Given the description of an element on the screen output the (x, y) to click on. 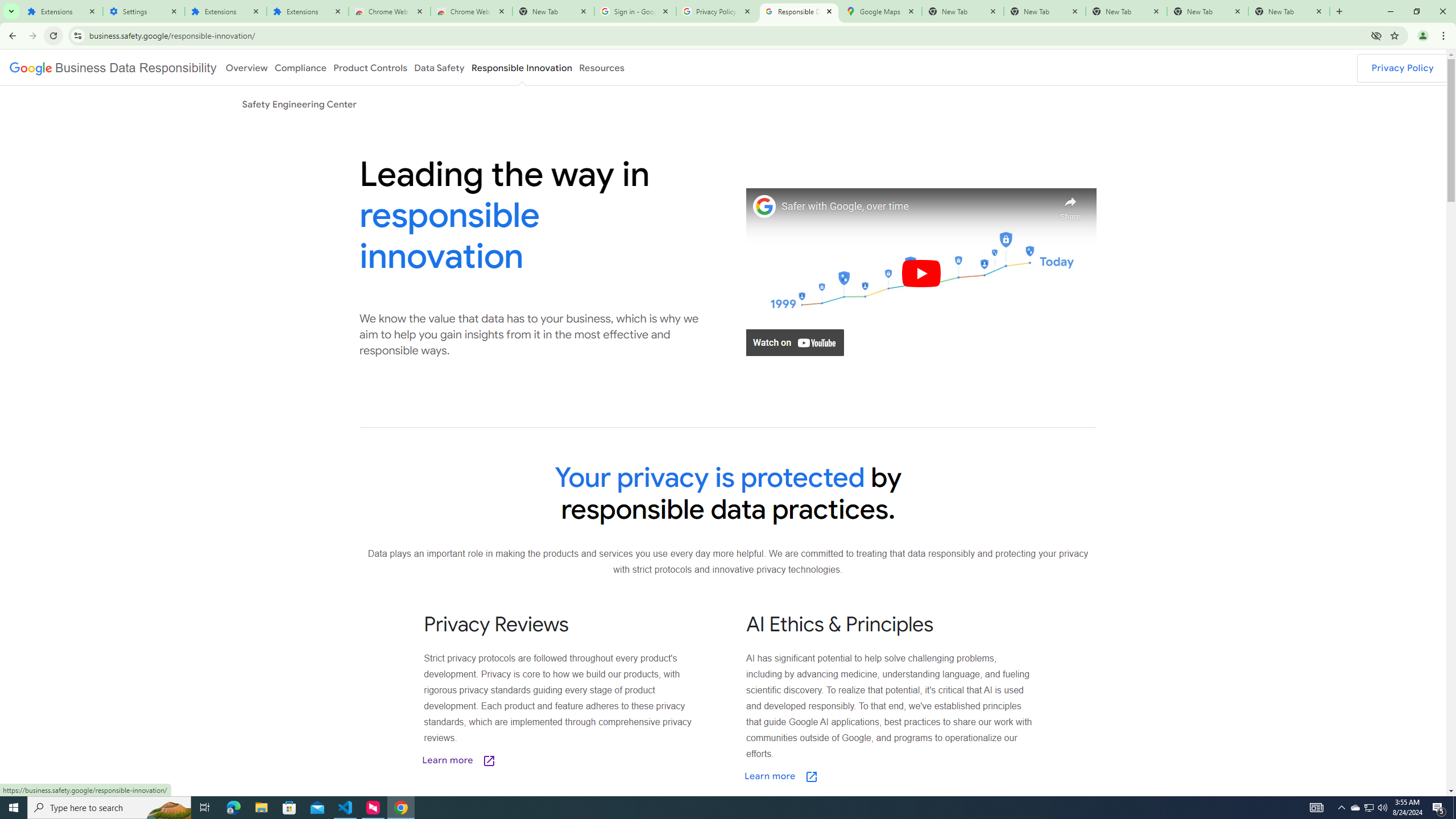
New Tab (1338, 11)
Extensions (307, 11)
Learn more  (837, 776)
Extensions (61, 11)
Watch on YouTube (794, 342)
Data Safety (438, 67)
New Tab (552, 11)
Chrome Web Store - Themes (470, 11)
You (1422, 35)
Photo image of Google (764, 205)
Product Controls (370, 67)
Privacy Policy (1402, 68)
Reload (52, 35)
View site information (77, 35)
